Given the description of an element on the screen output the (x, y) to click on. 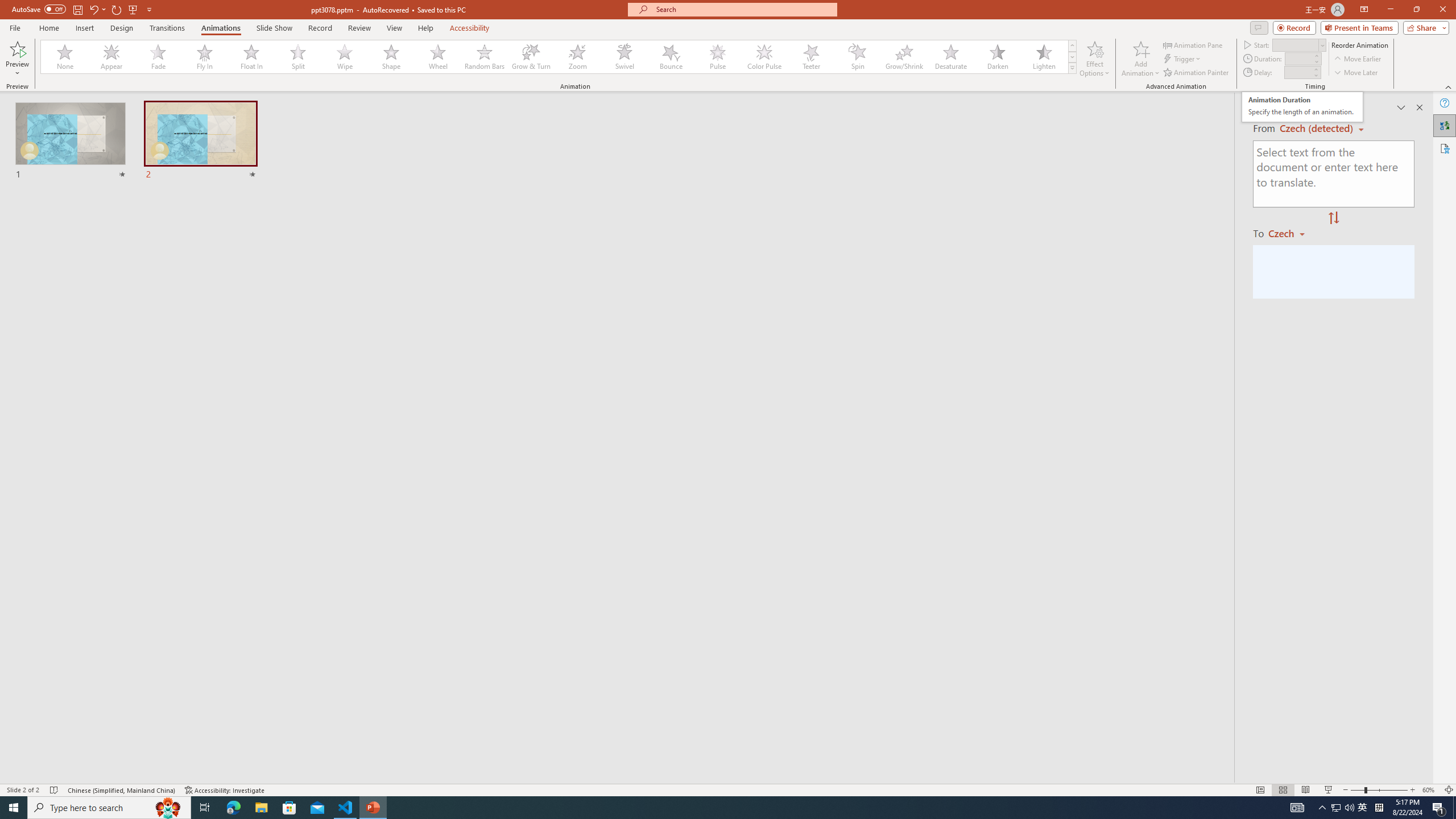
Animation Styles (1071, 67)
Zoom 60% (1301, 106)
Teeter (1430, 790)
